Given the description of an element on the screen output the (x, y) to click on. 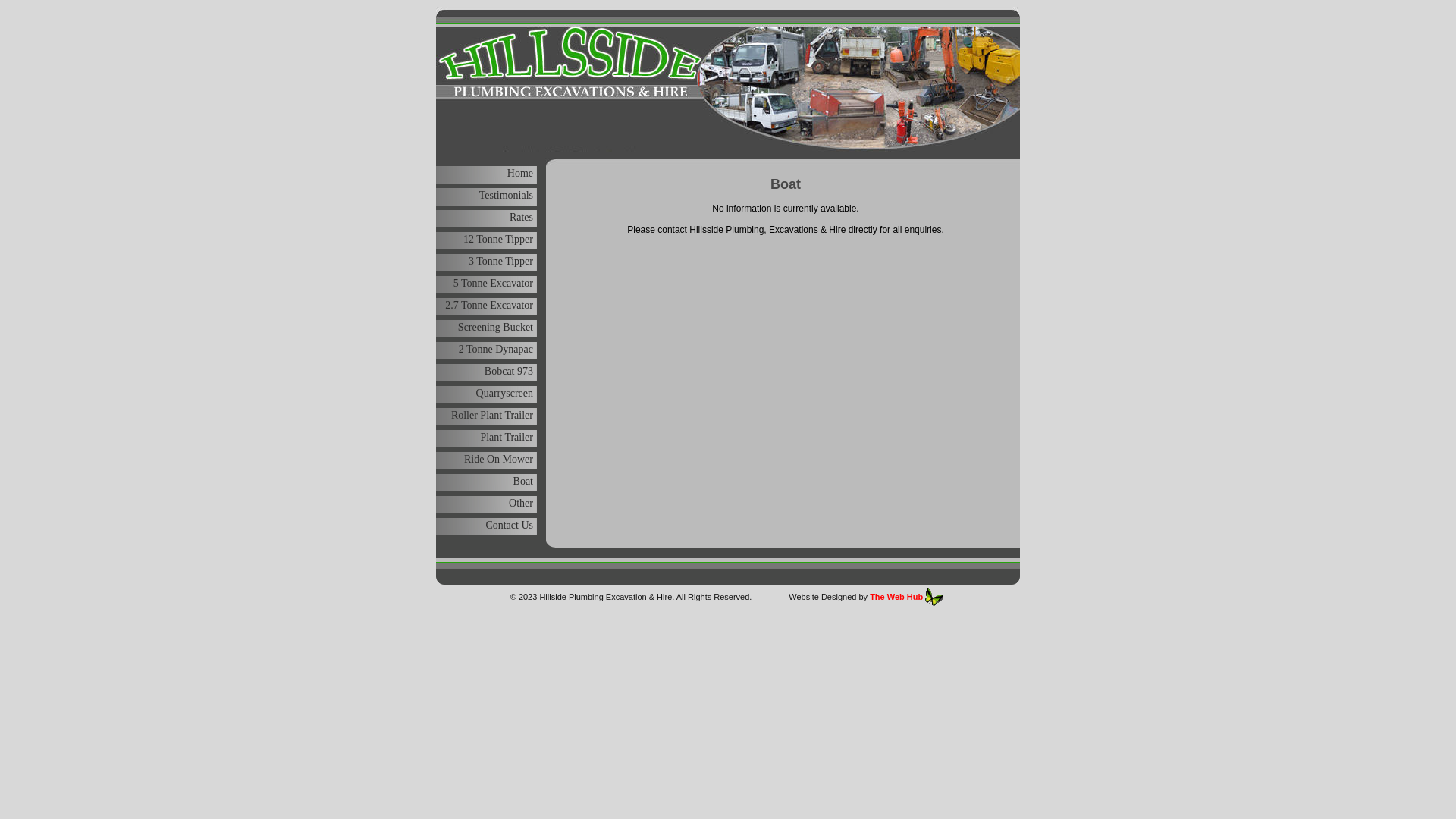
Bobcat 973 Element type: text (508, 370)
Boat Element type: text (523, 480)
2.7 Tonne Excavator Element type: text (489, 304)
Screening Bucket Element type: text (495, 326)
The Web Hub Element type: text (895, 596)
Home Element type: text (520, 172)
Contact Us Element type: text (509, 524)
Roller Plant Trailer Element type: text (492, 414)
5 Tonne Excavator Element type: text (493, 282)
Ride On Mower Element type: text (498, 458)
Testimonials Element type: text (506, 194)
Quarryscreen Element type: text (504, 392)
3 Tonne Tipper Element type: text (500, 260)
12 Tonne Tipper Element type: text (498, 238)
2 Tonne Dynapac Element type: text (495, 348)
Rates Element type: text (521, 216)
Plant Trailer Element type: text (506, 436)
Other Element type: text (520, 502)
